Given the description of an element on the screen output the (x, y) to click on. 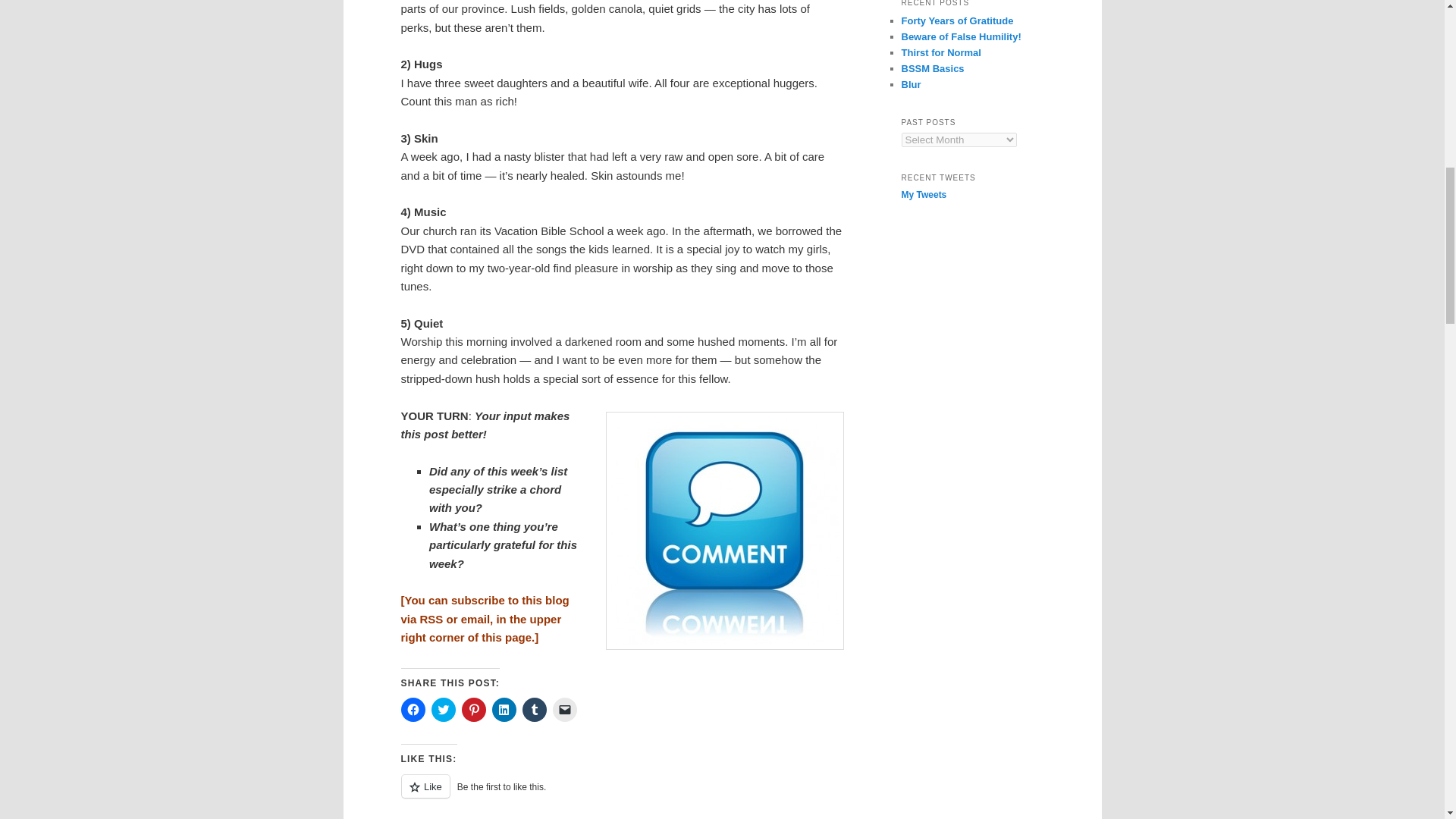
Click to share on LinkedIn (503, 709)
Blister (570, 818)
Click to share on Pinterest (472, 709)
Click to share on Twitter (442, 709)
Click to share on Facebook (412, 709)
Click to share on Tumblr (533, 709)
Daughters (706, 818)
Church (605, 818)
Click to email a link to a friend (563, 709)
Countryside (652, 818)
Thursday Thanks (478, 818)
Family (748, 818)
Like or Reblog (621, 794)
